Given the description of an element on the screen output the (x, y) to click on. 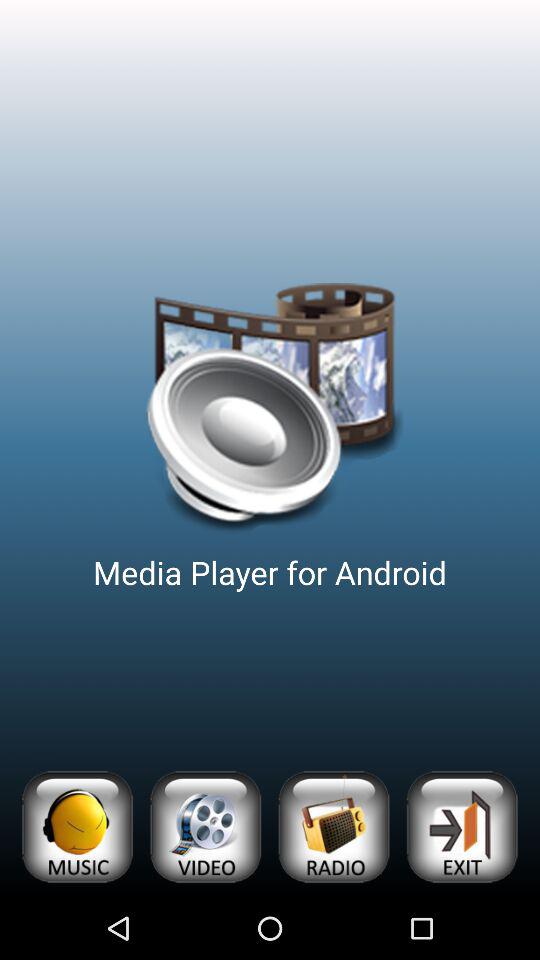
exit application (461, 826)
